Given the description of an element on the screen output the (x, y) to click on. 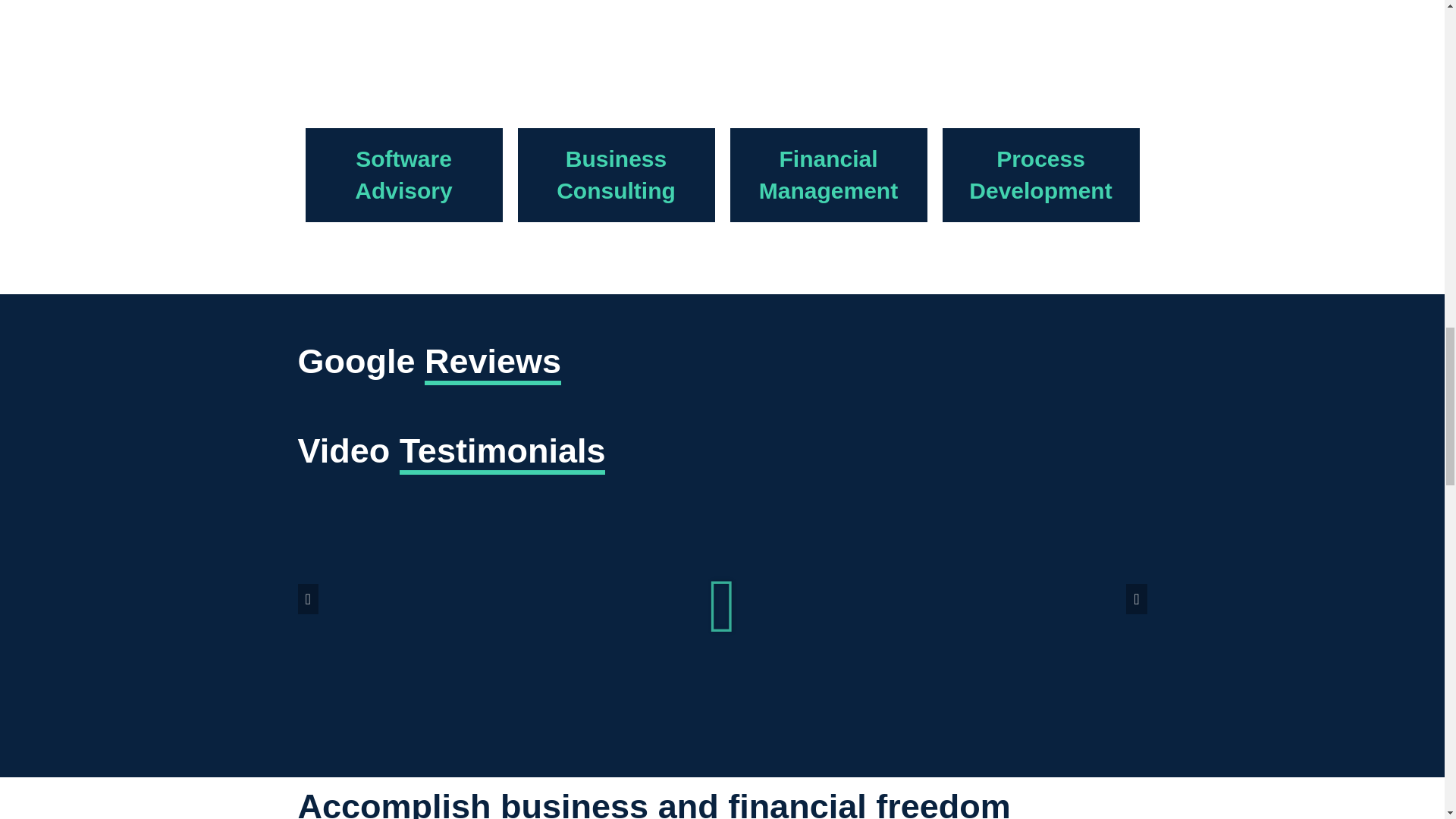
Process Development (1040, 174)
